Given the description of an element on the screen output the (x, y) to click on. 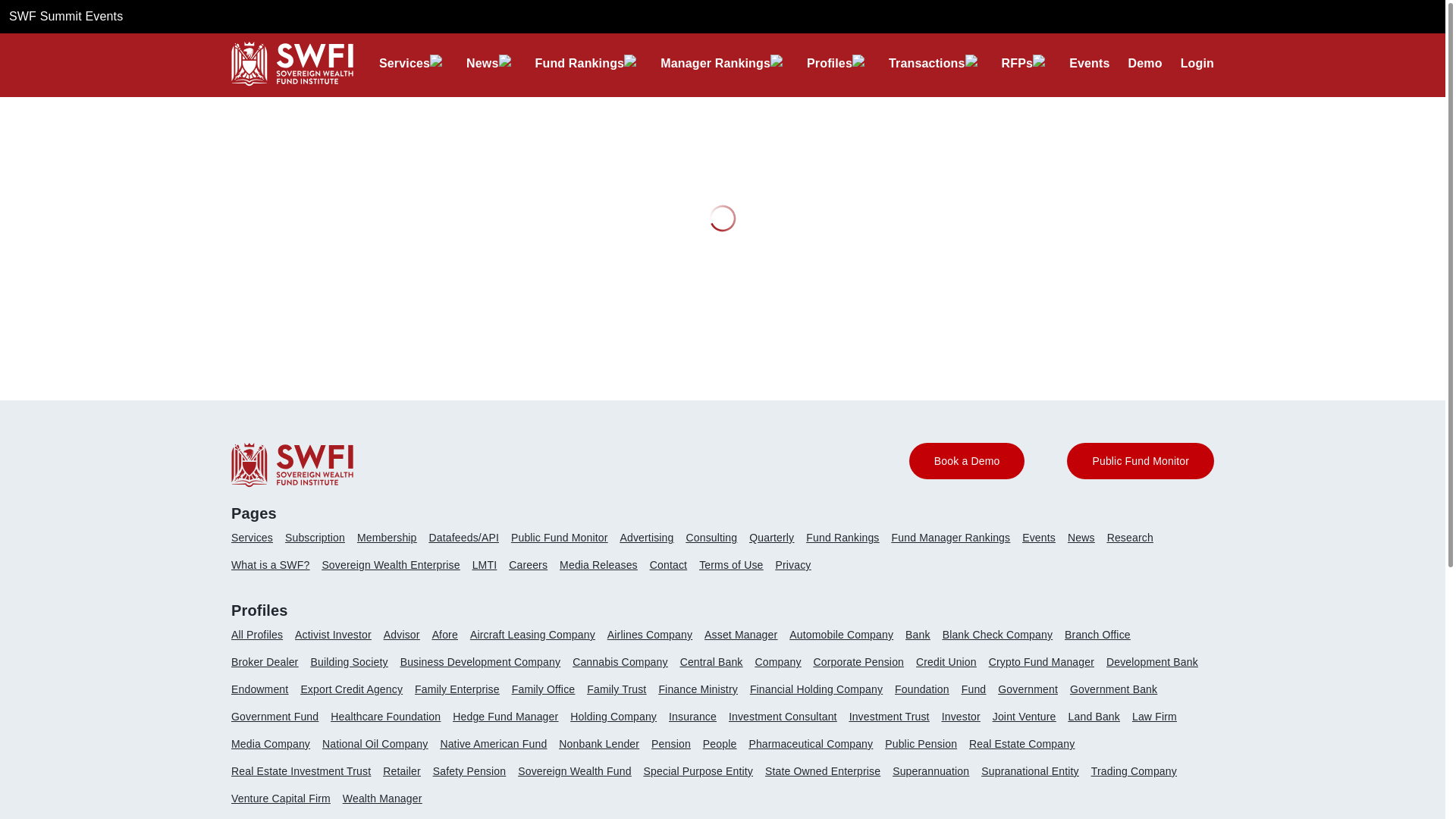
News (481, 63)
SWF Summit Events (65, 15)
Manager Rankings (715, 63)
Services (403, 63)
Fund Rankings (579, 63)
